Given the description of an element on the screen output the (x, y) to click on. 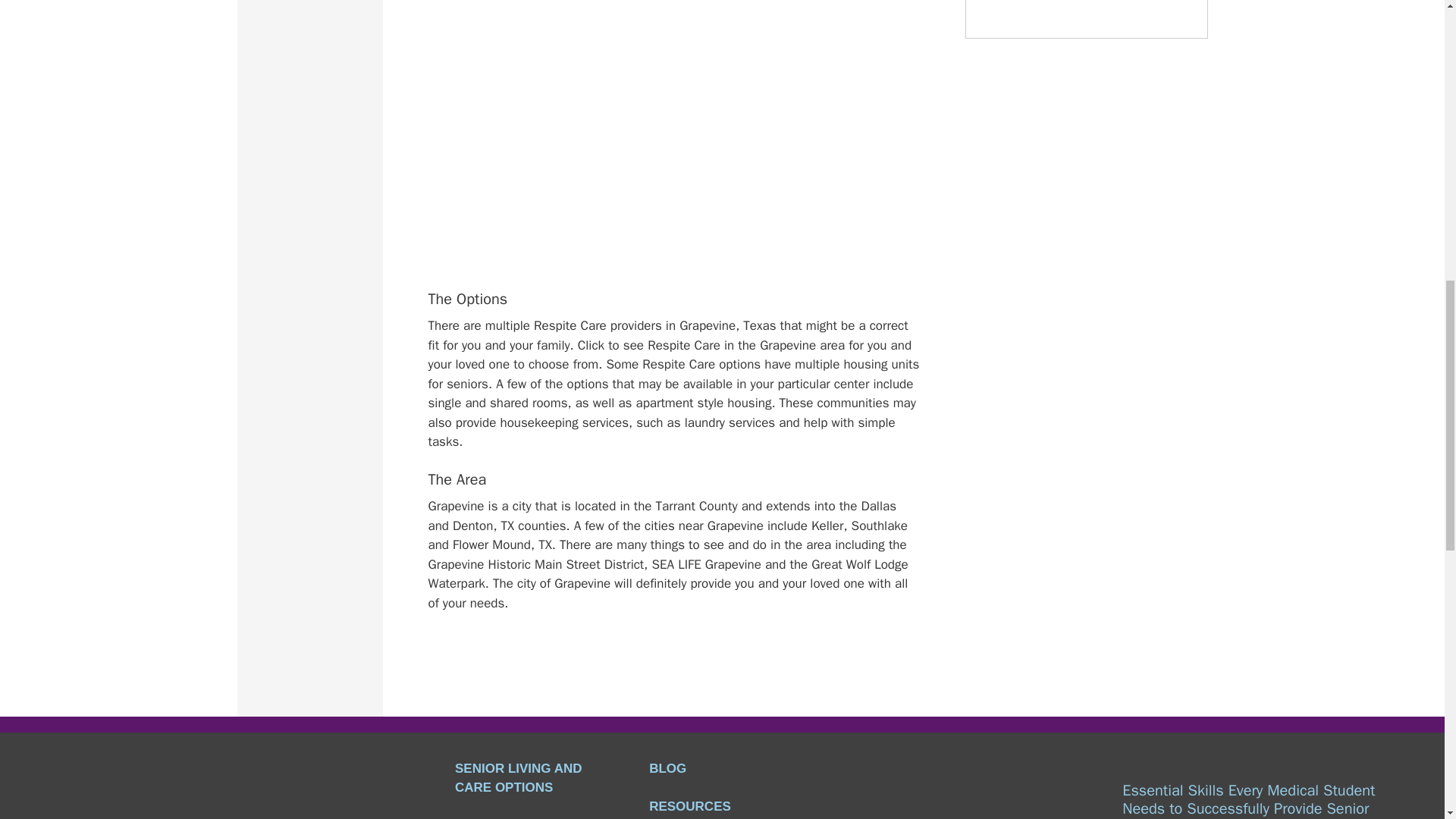
Advertisement (681, 201)
